Given the description of an element on the screen output the (x, y) to click on. 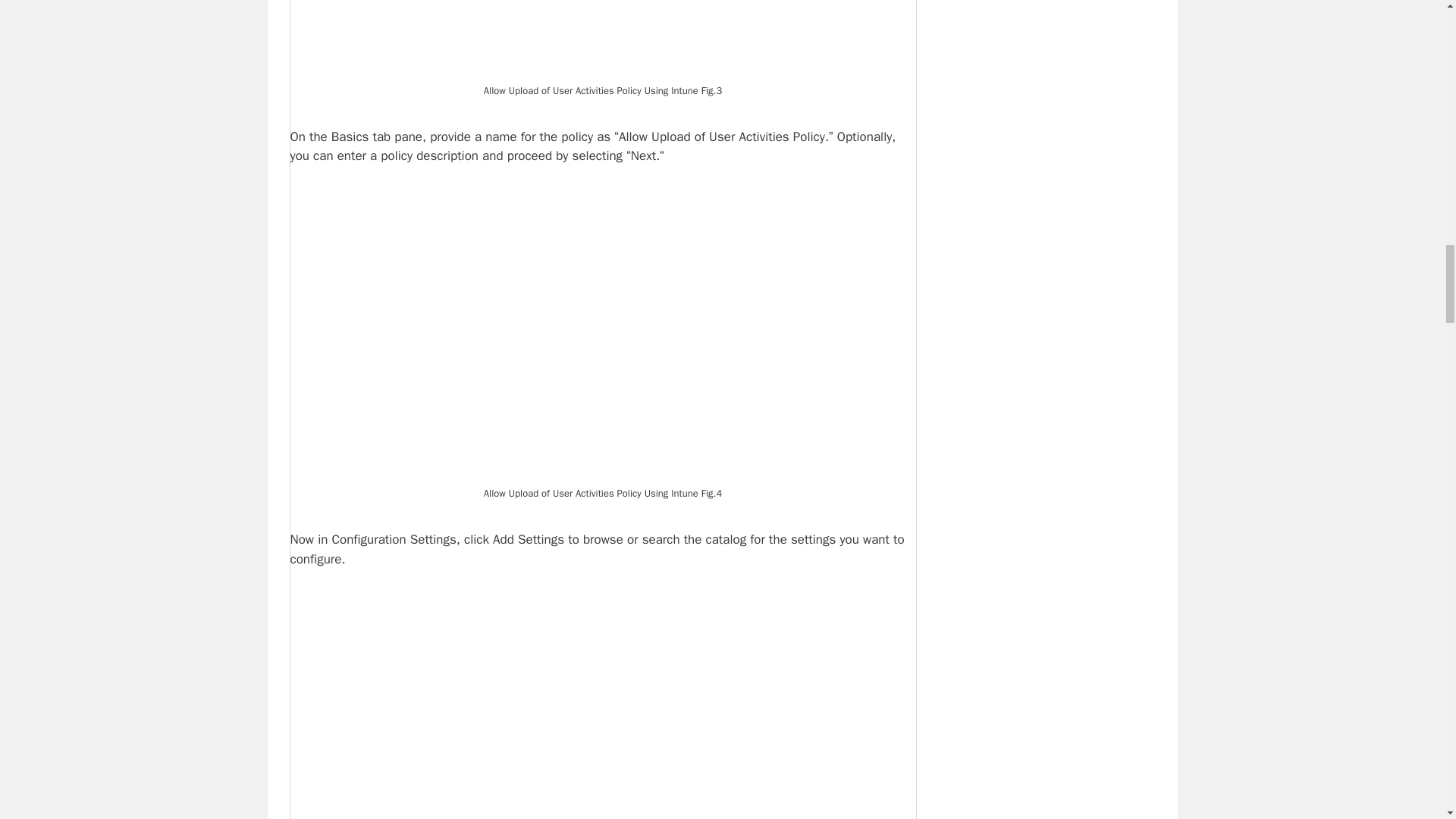
Allow Upload of User Activities Policy using Intune 3 (602, 38)
